Given the description of an element on the screen output the (x, y) to click on. 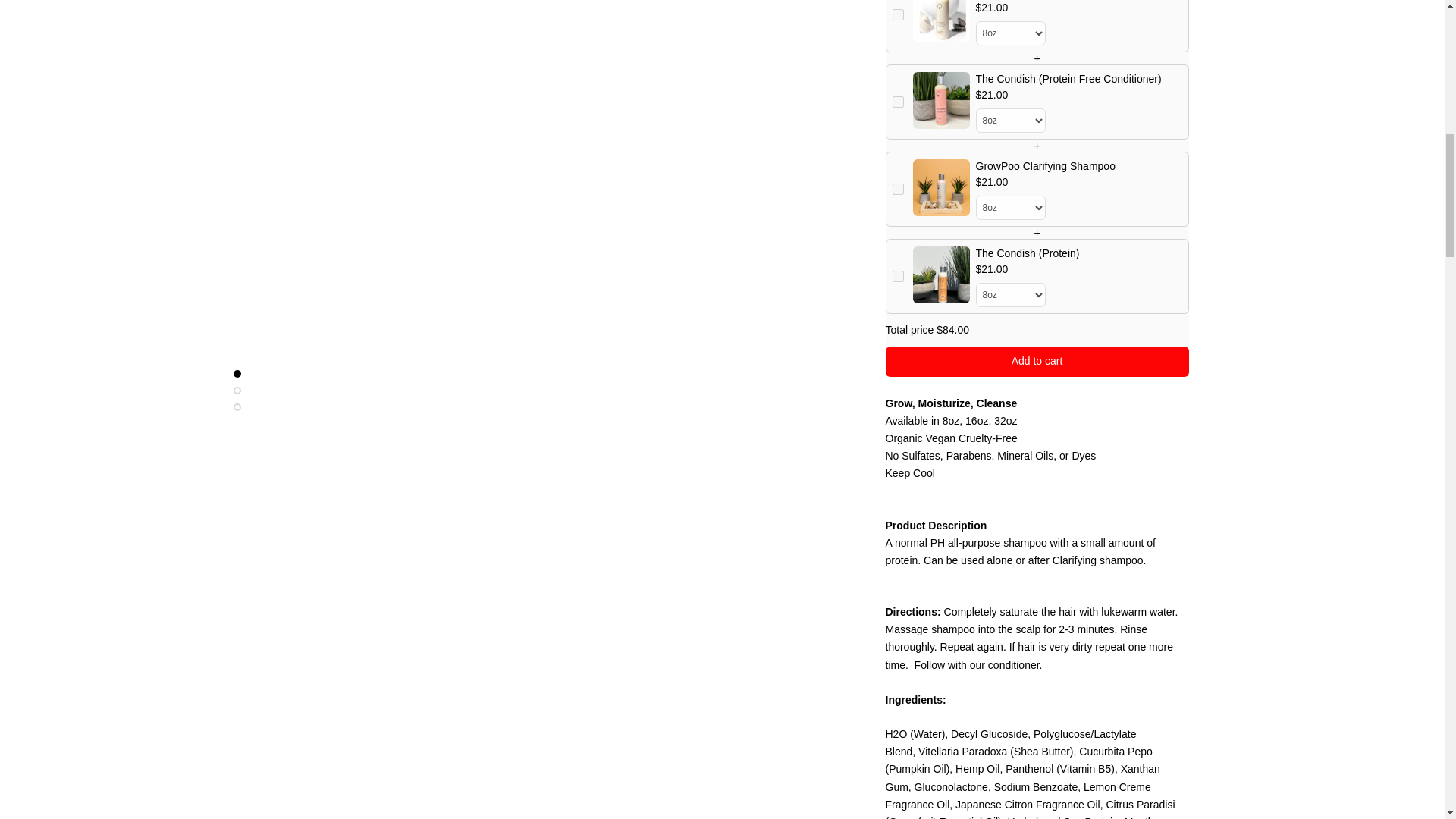
on (896, 87)
on (896, 261)
on (896, 2)
on (896, 174)
